Given the description of an element on the screen output the (x, y) to click on. 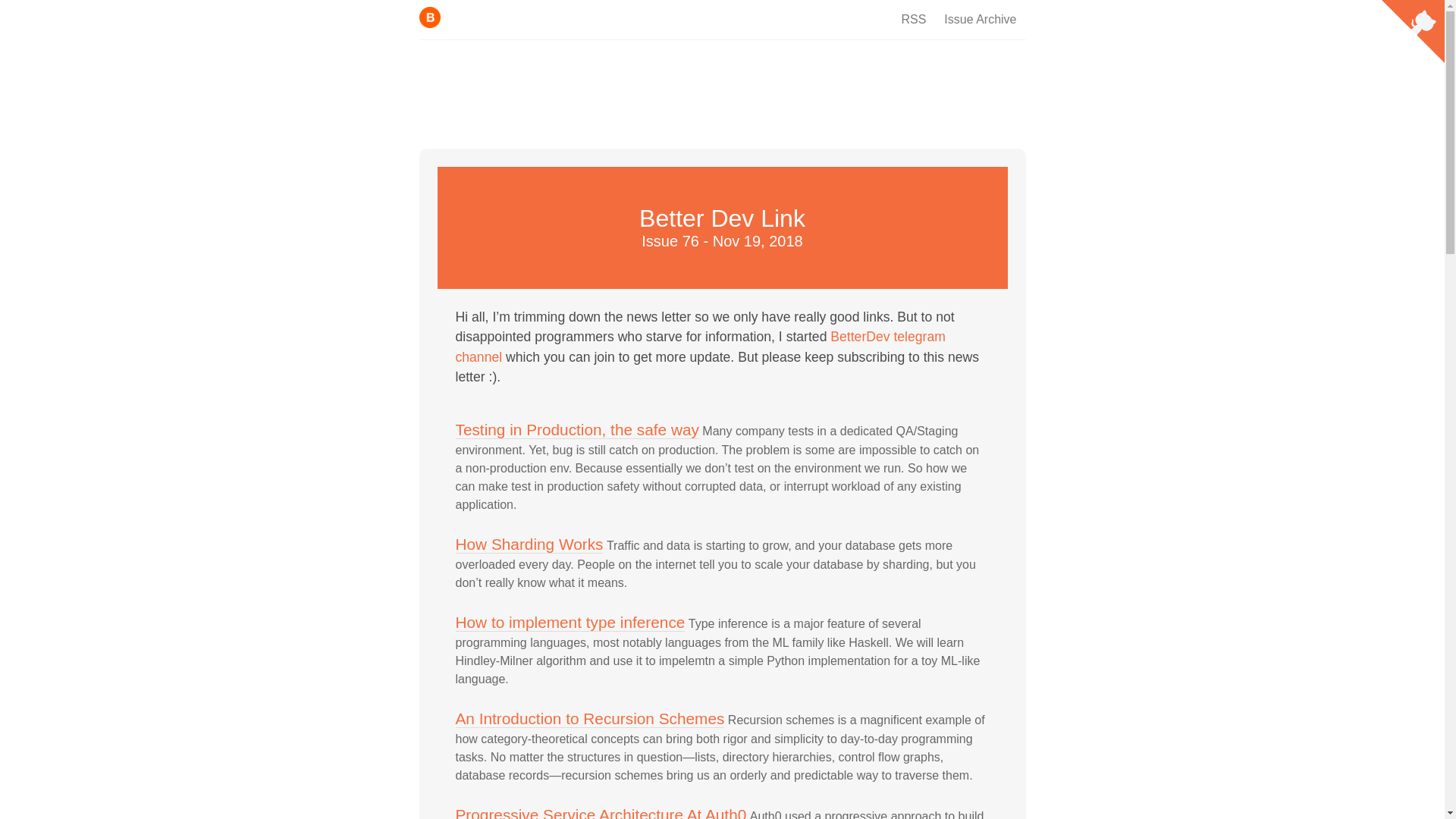
Progressive Service Architecture At Auth0 (599, 812)
BetterDev telegram channel (699, 346)
Testing in Production, the safe way (576, 429)
RSS (912, 19)
Issue Archive (979, 19)
How to implement type inference (569, 622)
How Sharding Works (528, 544)
An Introduction to Recursion Schemes (588, 719)
